Given the description of an element on the screen output the (x, y) to click on. 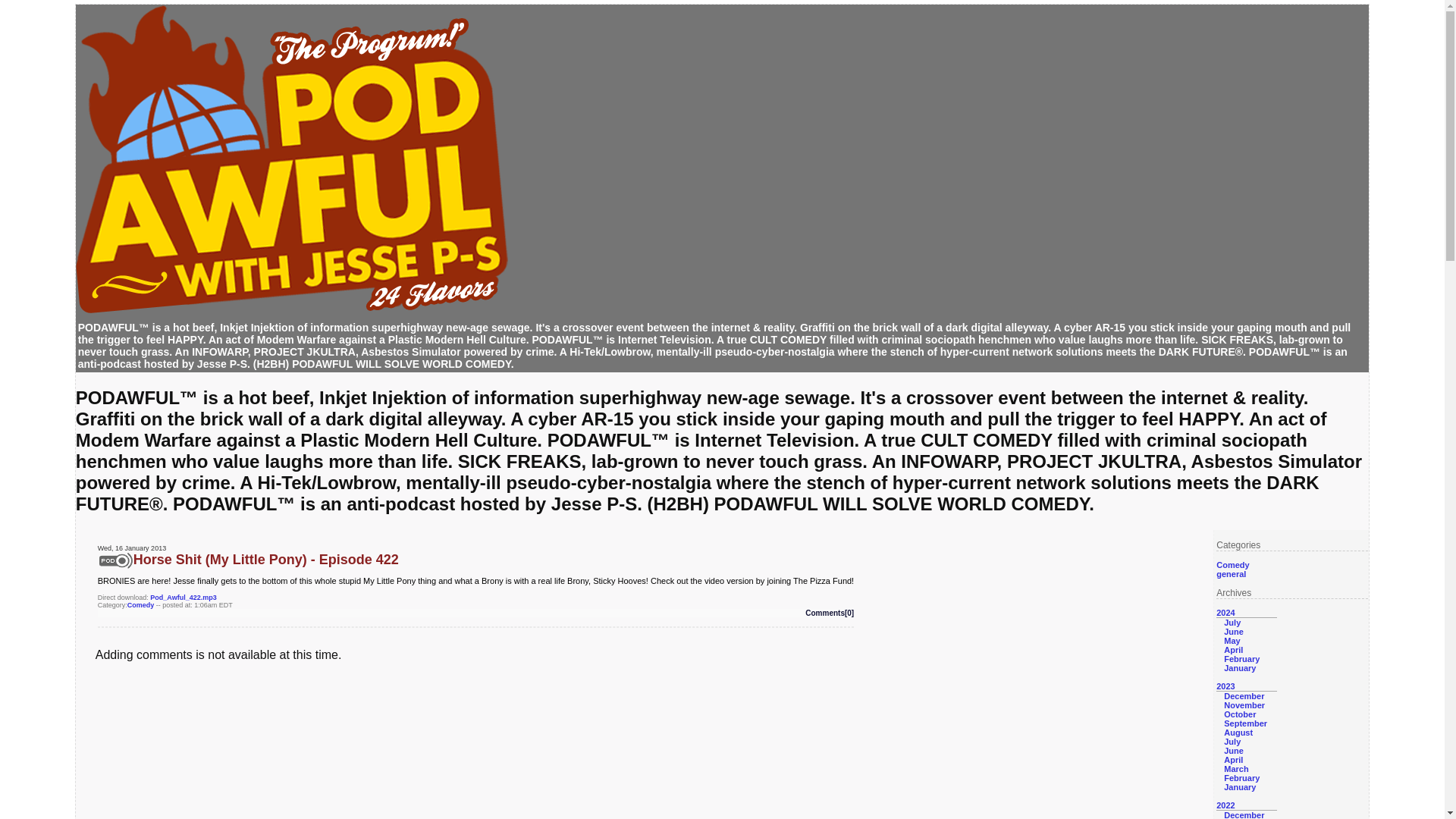
July (1232, 622)
April (1233, 649)
June (1233, 631)
May (1232, 640)
March (1235, 768)
February (1241, 658)
February (1241, 777)
2023 (1224, 686)
November (1244, 705)
June (1233, 750)
December (1243, 696)
October (1239, 714)
2024 (1224, 612)
August (1238, 732)
general (1230, 573)
